Given the description of an element on the screen output the (x, y) to click on. 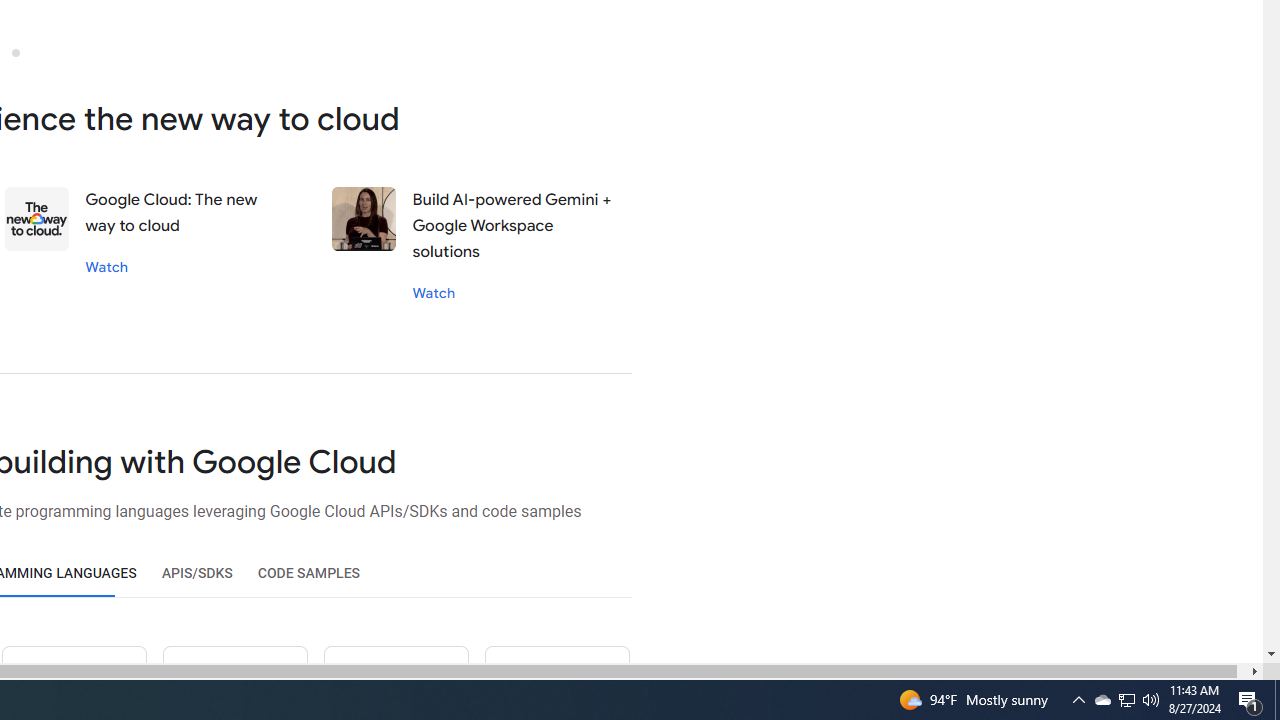
Watch (433, 292)
Ruby icon (235, 682)
CODE SAMPLES (308, 573)
Dot net icon (395, 682)
Stephanie wong's interview session (363, 219)
APIS/SDKS (196, 573)
CPP icon (556, 682)
APIS/SDKS (196, 573)
Data value (37, 219)
CODE SAMPLES (308, 573)
Slide 3 (15, 52)
